Given the description of an element on the screen output the (x, y) to click on. 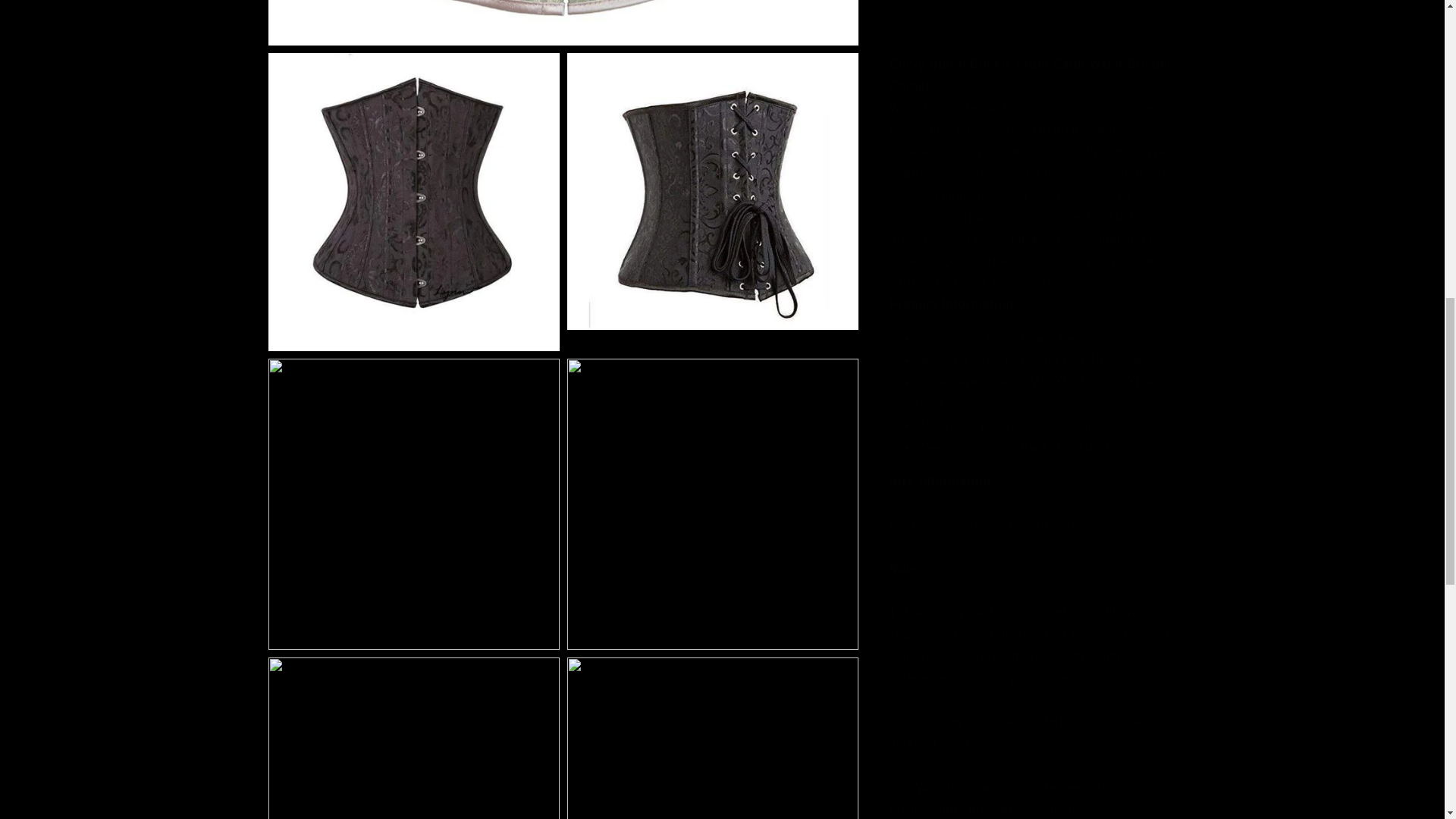
Open media 7 in modal (412, 379)
Open media 9 in modal (412, 675)
Open media 10 in modal (712, 675)
Open media 2 in modal (412, 114)
Open media 4 in modal (712, 114)
Open media 8 in modal (712, 379)
